Given the description of an element on the screen output the (x, y) to click on. 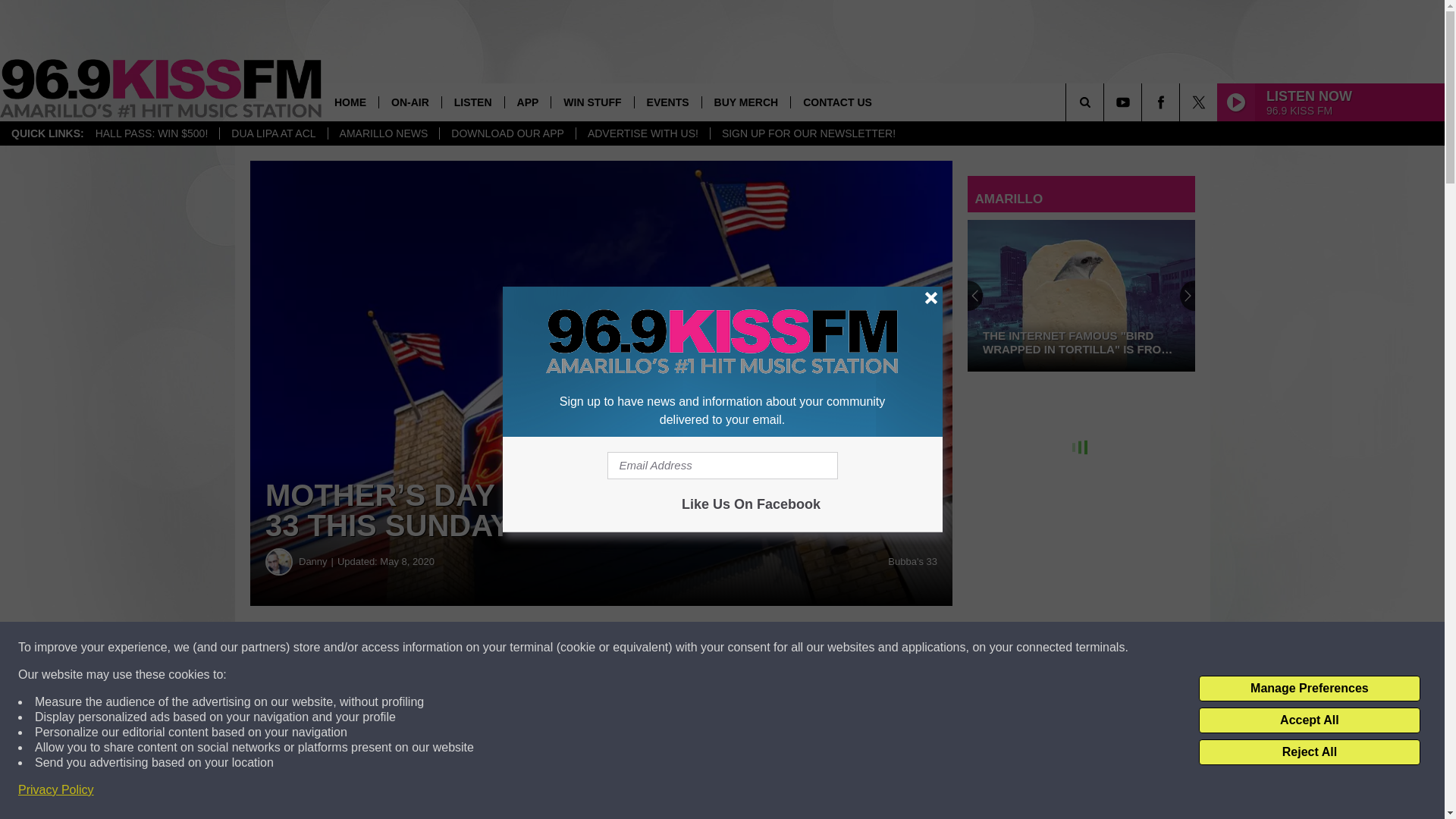
BUY MERCH (745, 102)
Reject All (1309, 751)
DUA LIPA AT ACL (272, 133)
SEARCH (1106, 102)
EVENTS (667, 102)
DOWNLOAD OUR APP (507, 133)
SEARCH (1106, 102)
ON-AIR (409, 102)
Privacy Policy (55, 789)
Share on Facebook (460, 647)
Share on Twitter (741, 647)
ADVERTISE WITH US! (642, 133)
HOME (349, 102)
Manage Preferences (1309, 688)
Email Address (722, 465)
